Given the description of an element on the screen output the (x, y) to click on. 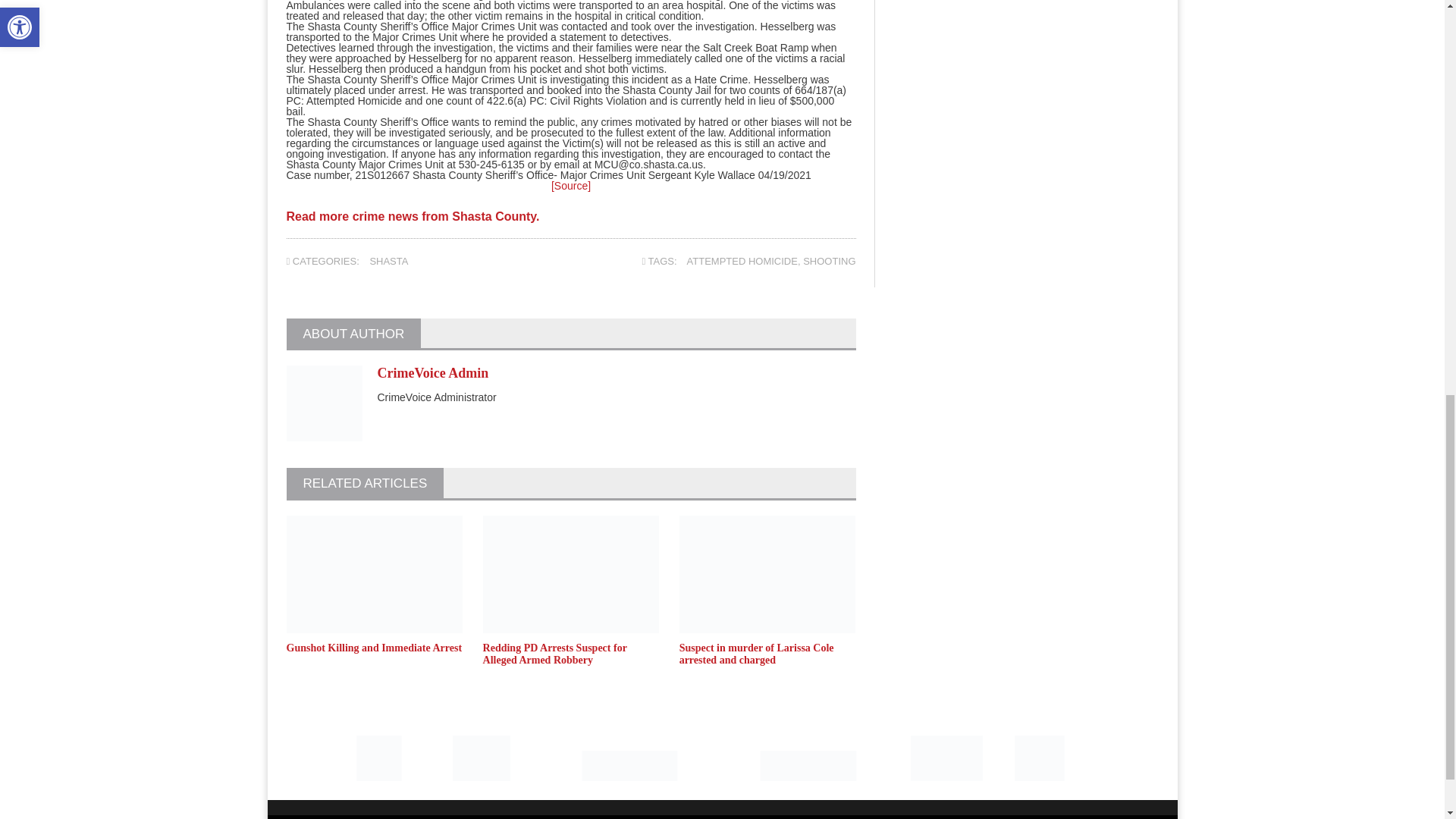
Redding PD Arrests Suspect for Alleged Armed Robbery (555, 654)
Suspect in murder of Larissa Cole arrested and charged (756, 654)
Read more crime news from Shasta County. (413, 222)
SHOOTING (829, 260)
Gunshot Killing and Immediate Arrest (374, 647)
SHASTA (388, 260)
CrimeVoice Admin (433, 372)
ATTEMPTED HOMICIDE (742, 260)
